Given the description of an element on the screen output the (x, y) to click on. 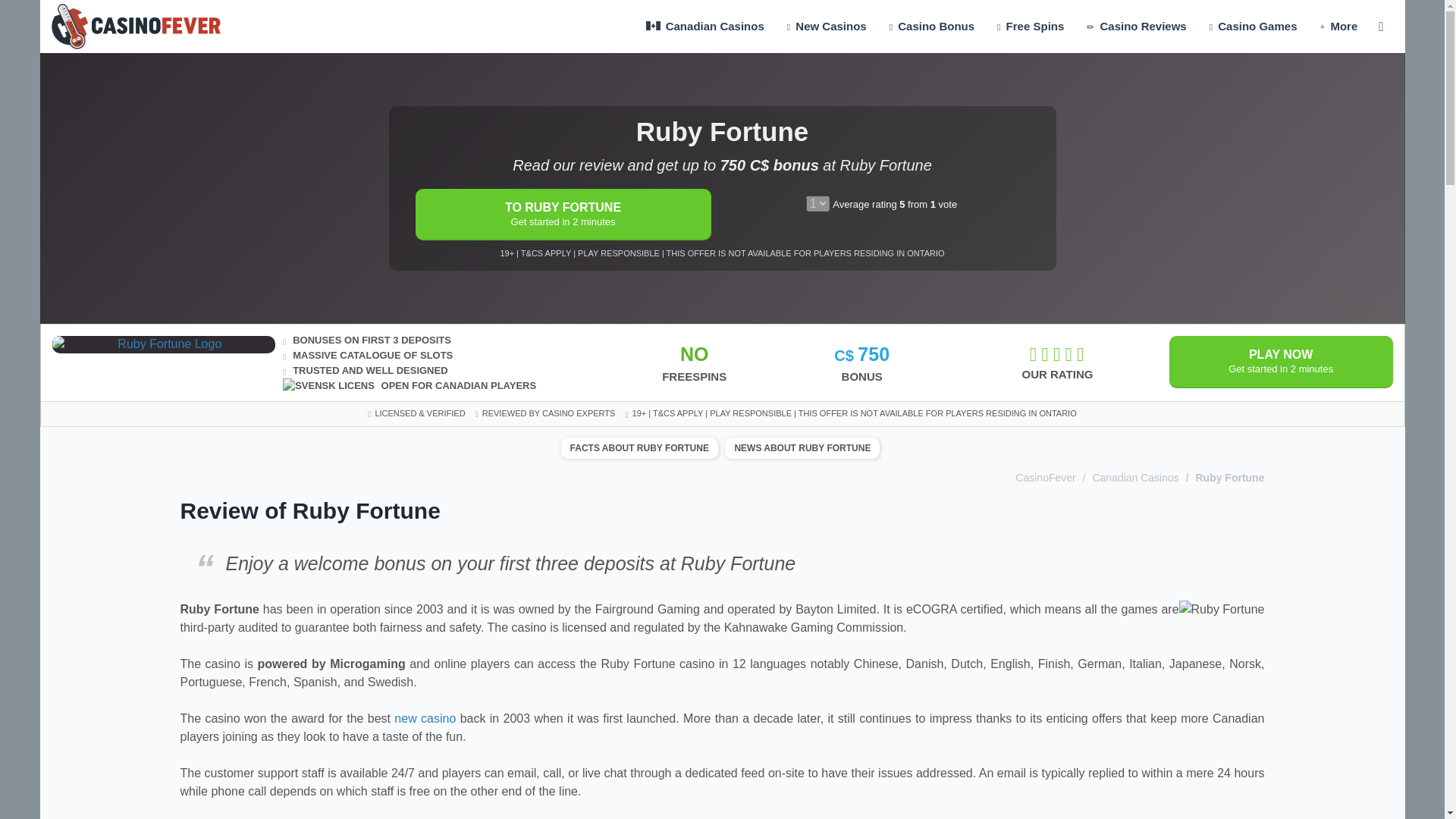
Free Spins (1030, 26)
Casino Games (1253, 26)
New Casinos (826, 26)
More (1337, 26)
CasinoFever (135, 18)
Casino Bonus (931, 26)
Casino Reviews (1135, 26)
Canadian Casinos (706, 26)
